Given the description of an element on the screen output the (x, y) to click on. 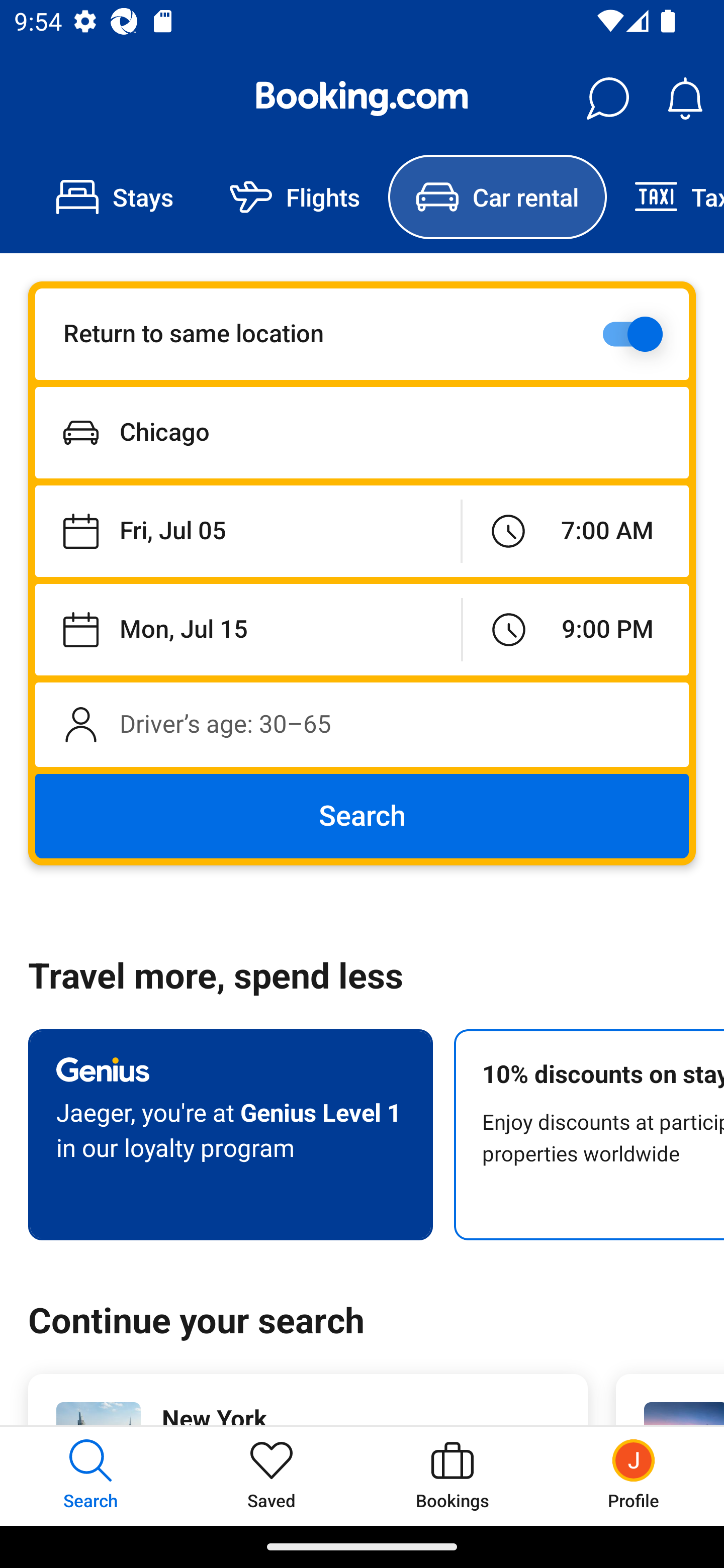
Messages (607, 98)
Notifications (685, 98)
Stays (114, 197)
Flights (294, 197)
Car rental (497, 197)
Taxi (665, 197)
Pick-up location: Text(name=Chicago) (361, 432)
Pick-up date: 2024-07-05 (247, 531)
Pick-up time: 07:00:00.000 (575, 531)
Drop-off date: 2024-07-15 (248, 629)
Drop-off time: 21:00:00.000 (575, 629)
Enter the driver's age (361, 724)
Search (361, 815)
Saved (271, 1475)
Bookings (452, 1475)
Profile (633, 1475)
